Given the description of an element on the screen output the (x, y) to click on. 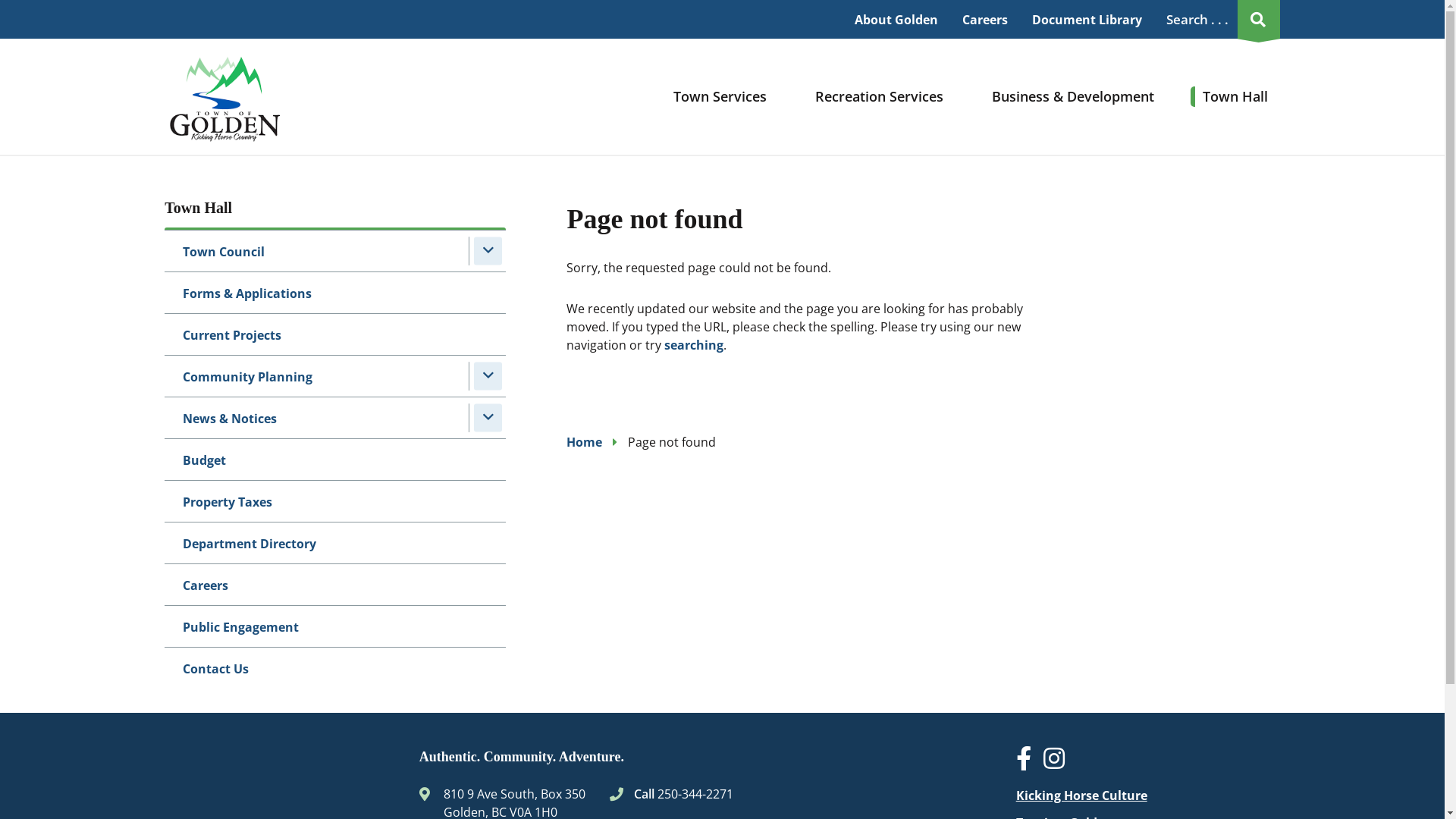
Current Projects Element type: text (334, 333)
News & Notices Element type: text (334, 417)
searching Element type: text (693, 344)
Kicking Horse Culture Element type: text (1081, 795)
Budget Element type: text (334, 459)
Careers Element type: text (334, 584)
Home Element type: text (584, 441)
Business & Development Element type: text (1072, 96)
About Golden Element type: text (896, 18)
Contact Us Element type: text (334, 667)
Town of Golden on Instagram Element type: hover (1059, 762)
Town Council Element type: text (334, 250)
Recreation Services Element type: text (879, 96)
Property Taxes Element type: text (334, 500)
Department Directory Element type: text (334, 542)
Skip to main content Element type: text (0, 0)
Public Engagement Element type: text (334, 625)
Search Element type: text (1138, 18)
Forms & Applications Element type: text (334, 292)
Document Library Element type: text (1087, 18)
Town of Golden on Facebook Element type: hover (1029, 762)
Community Planning Element type: text (334, 375)
Town Services Element type: text (719, 96)
Careers Element type: text (984, 18)
Town Hall Element type: text (1234, 96)
Search . . . Element type: text (1220, 19)
